Given the description of an element on the screen output the (x, y) to click on. 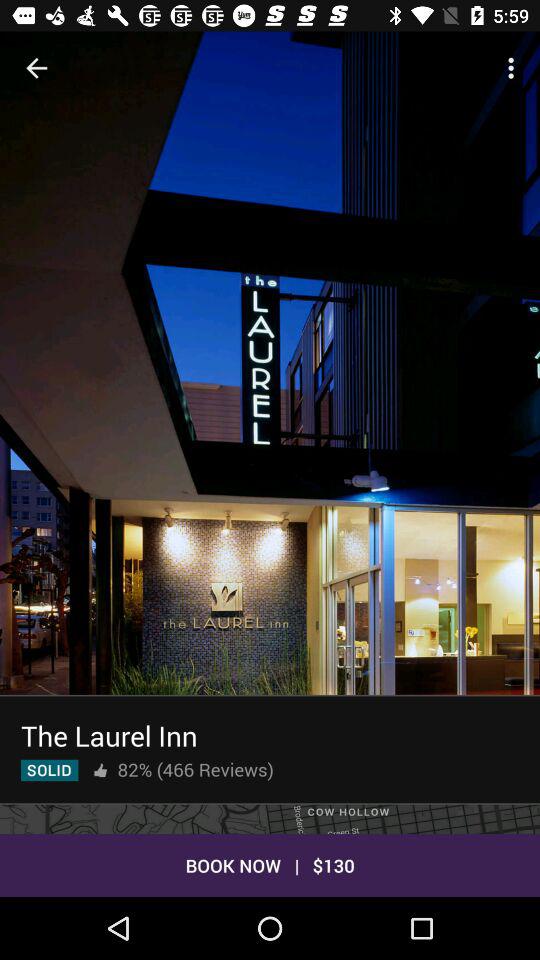
turn off the icon to the left of the 82% (466 reviews) item (100, 770)
